Given the description of an element on the screen output the (x, y) to click on. 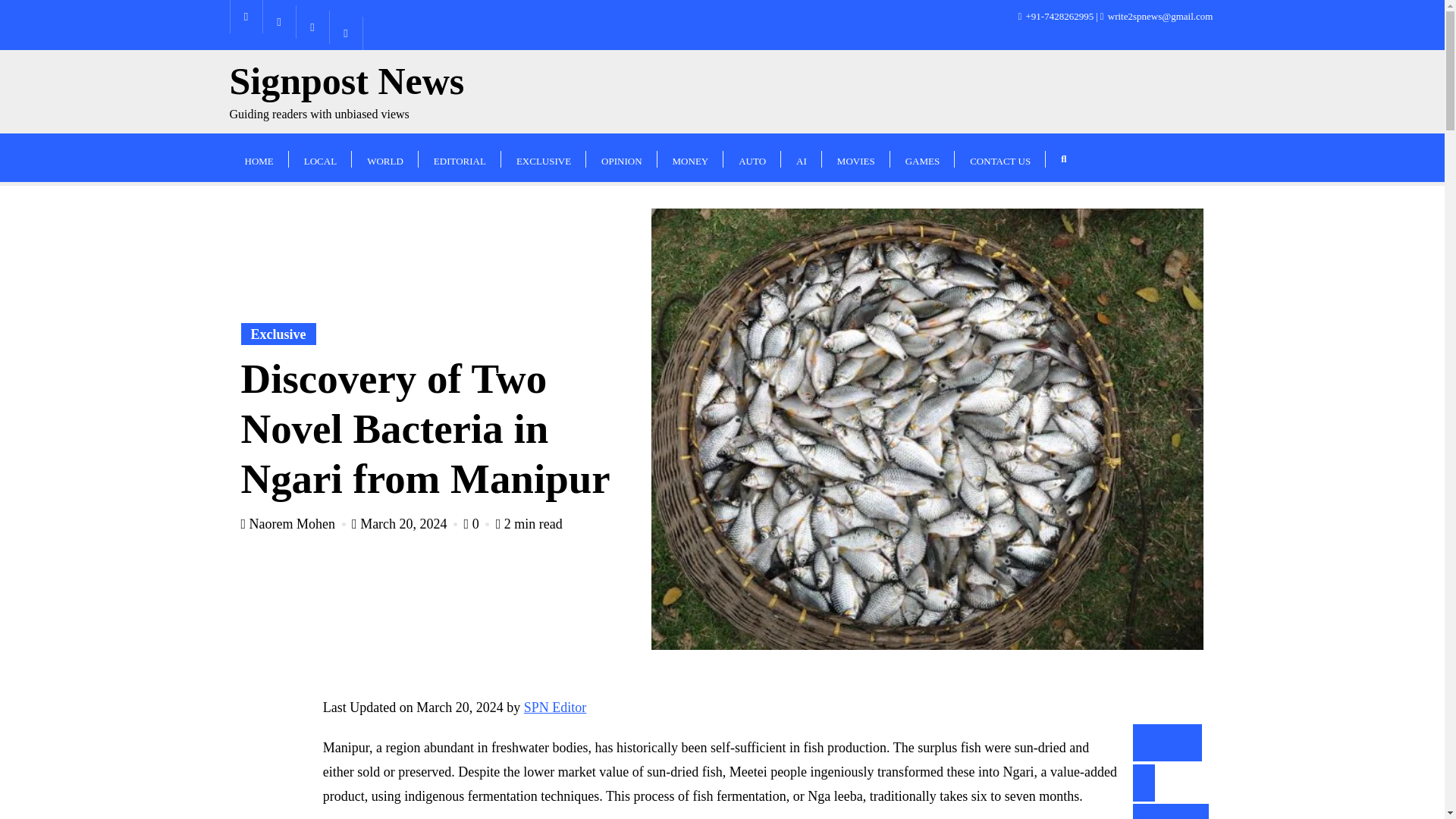
March 20, 2024 (346, 91)
OPINION (406, 523)
WORLD (621, 156)
Naorem Mohen (385, 156)
HOME (295, 523)
Exclusive (258, 156)
LOCAL (278, 333)
EDITORIAL (320, 156)
SPN Editor (459, 156)
